Given the description of an element on the screen output the (x, y) to click on. 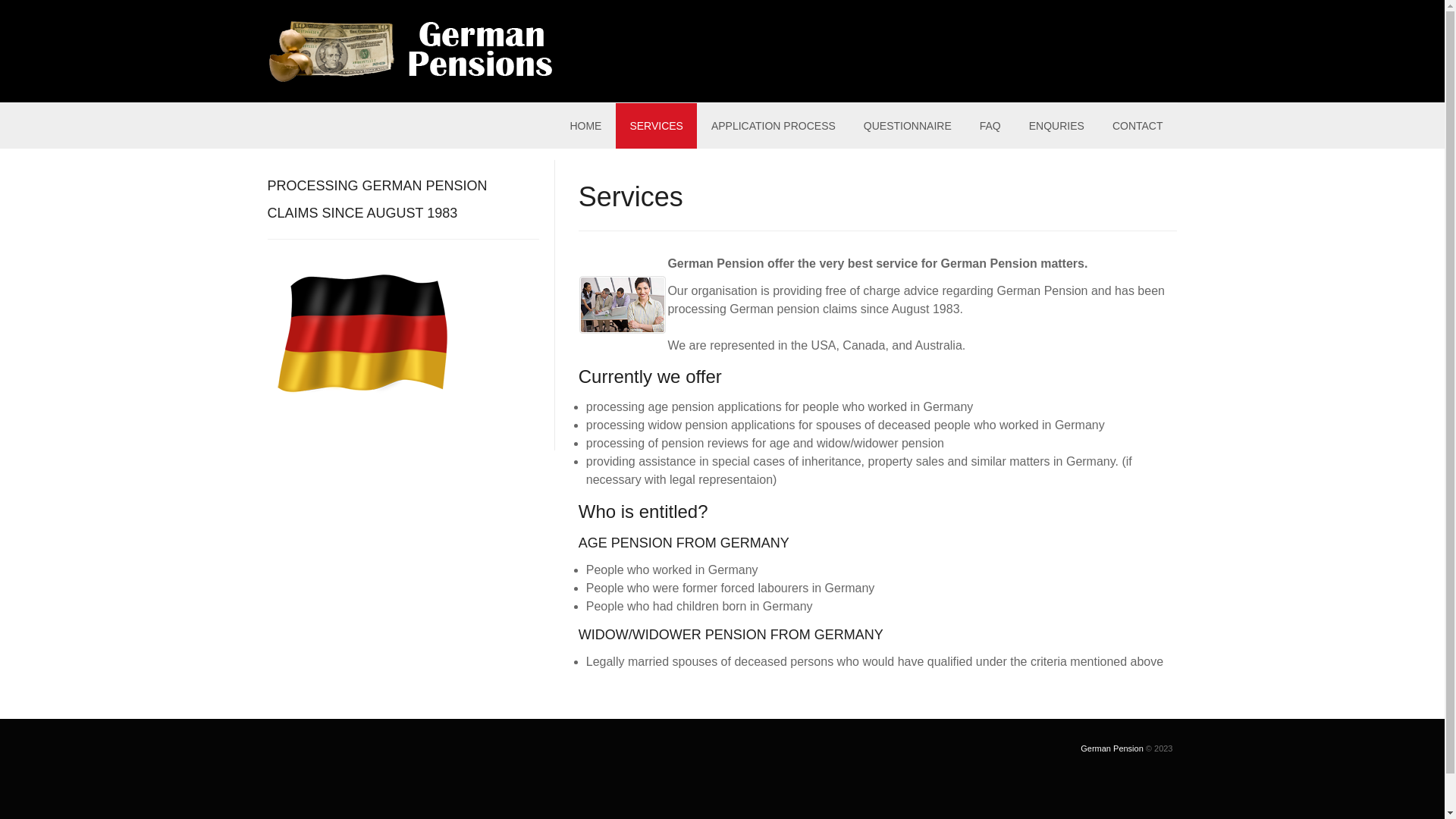
German Pension Element type: text (1111, 748)
HOME Element type: text (585, 125)
FAQ Element type: text (990, 125)
ENQURIES Element type: text (1056, 125)
SERVICES Element type: text (655, 125)
APPLICATION PROCESS Element type: text (773, 125)
CONTACT Element type: text (1137, 125)
QUESTIONNAIRE Element type: text (907, 125)
